Given the description of an element on the screen output the (x, y) to click on. 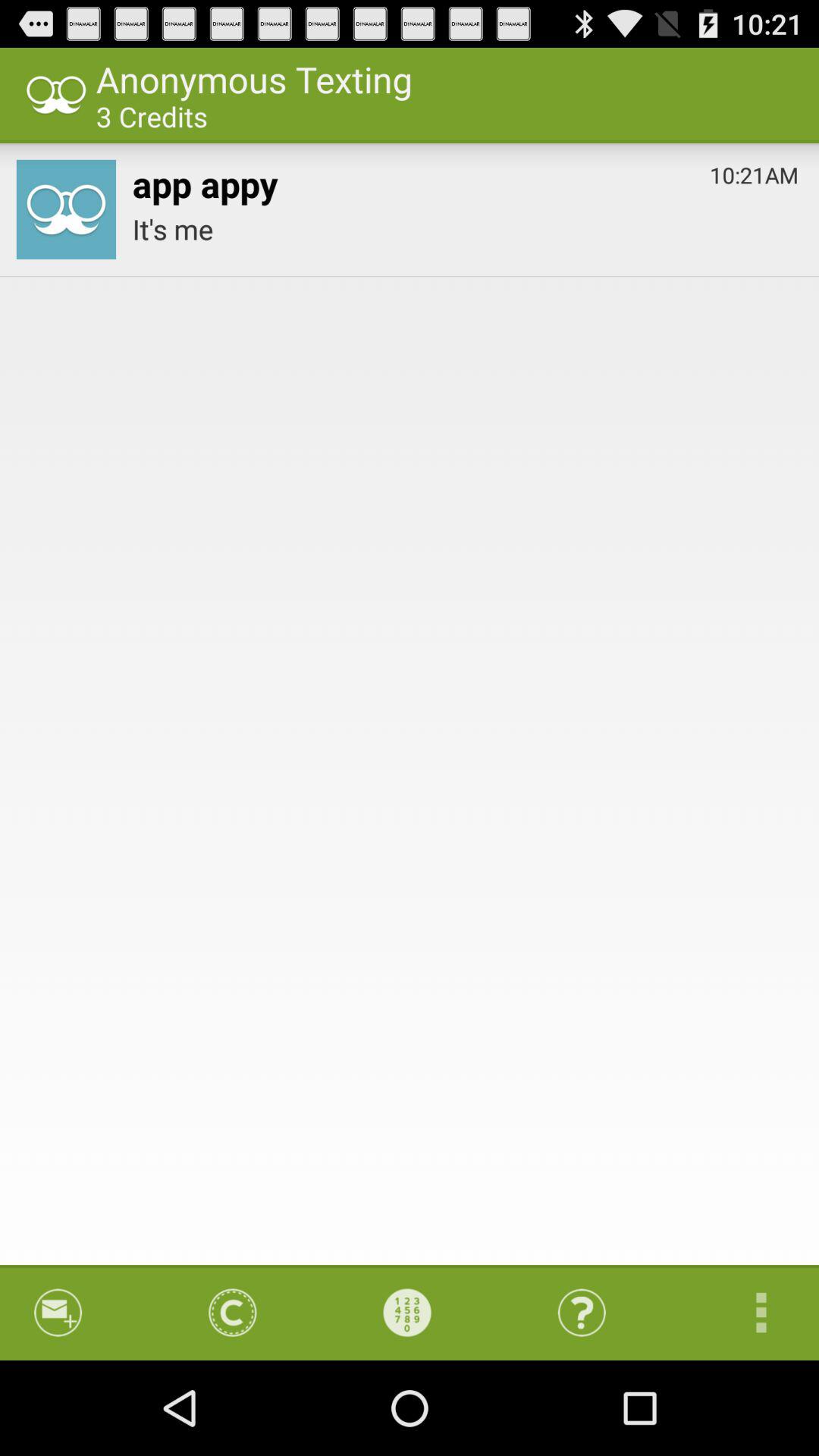
click the item at the bottom (407, 1312)
